Given the description of an element on the screen output the (x, y) to click on. 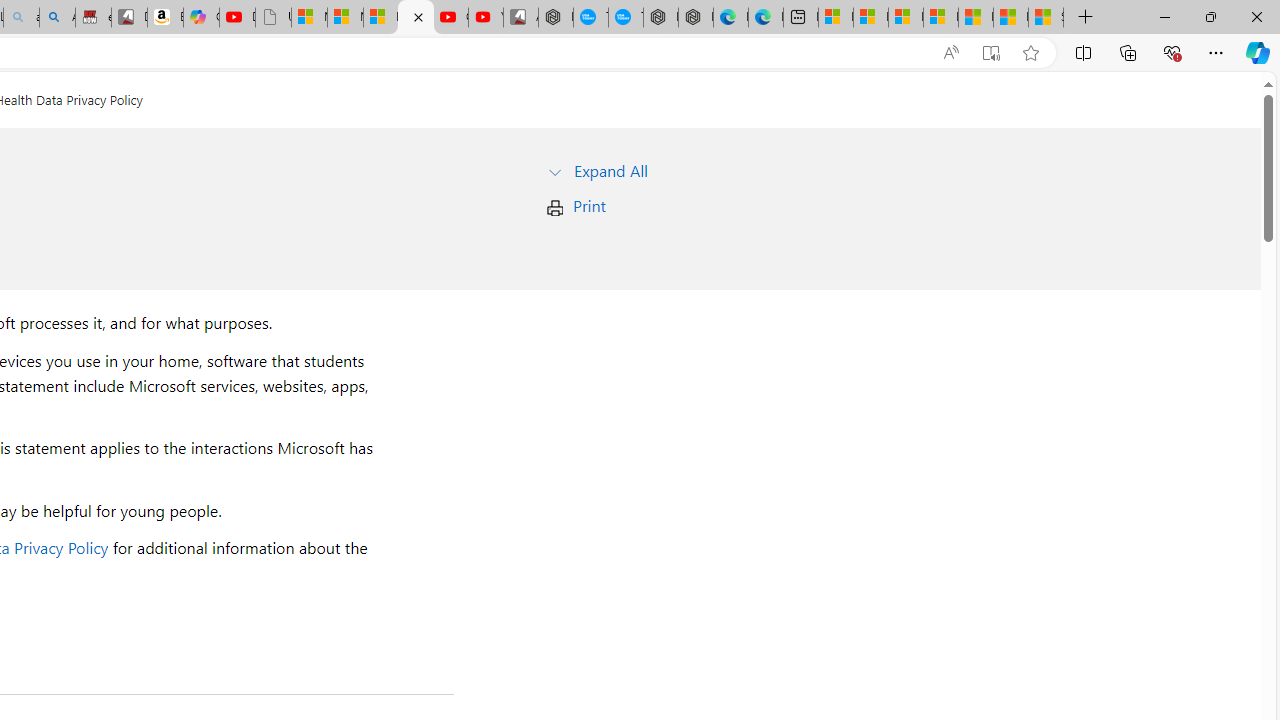
Nordace - My Account (555, 17)
Print (589, 205)
Copilot (201, 17)
Untitled (273, 17)
Day 1: Arriving in Yemen (surreal to be here) - YouTube (237, 17)
YouTube Kids - An App Created for Kids to Explore Content (485, 17)
